Given the description of an element on the screen output the (x, y) to click on. 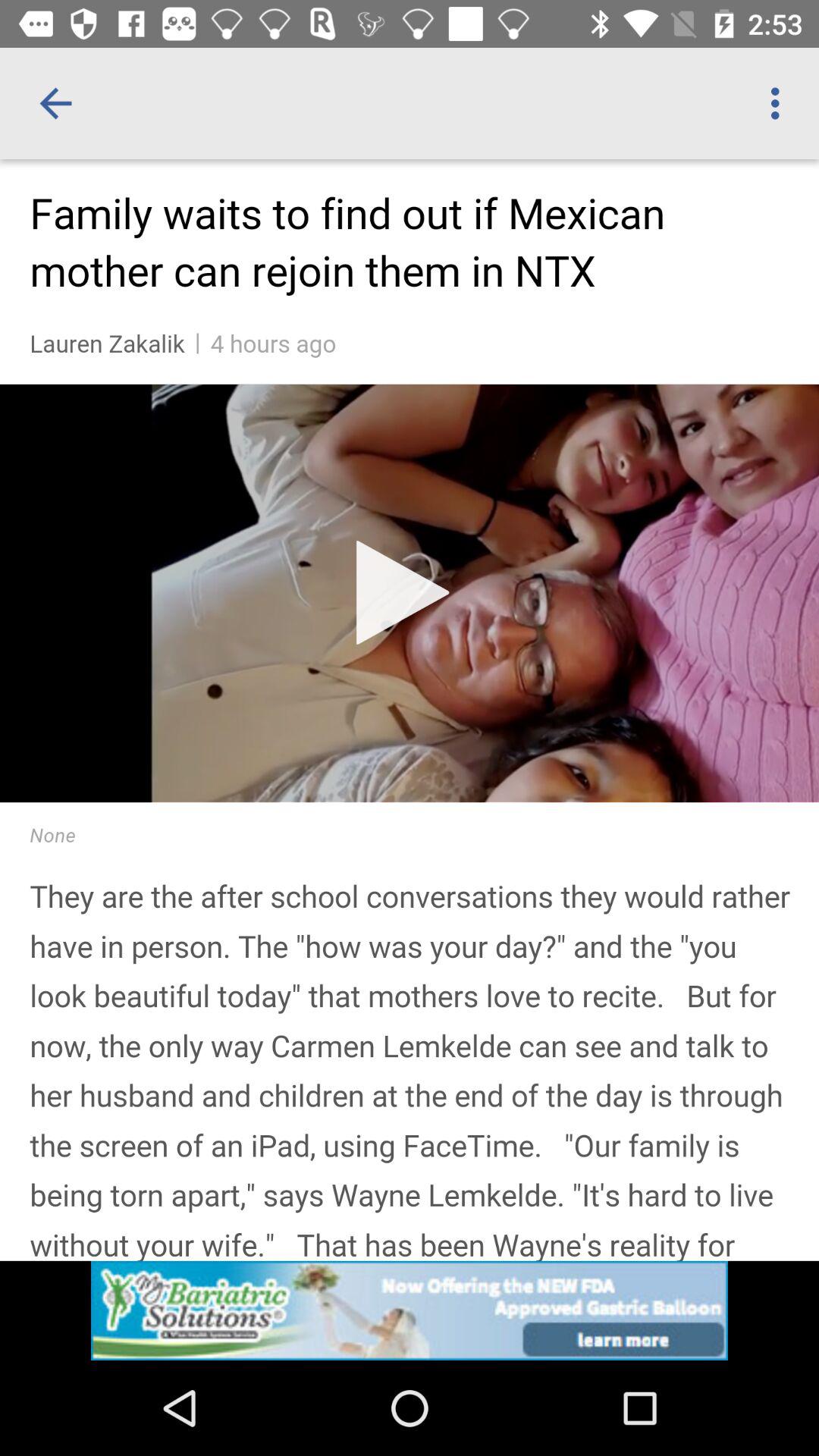
advertisement banner (409, 1310)
